Given the description of an element on the screen output the (x, y) to click on. 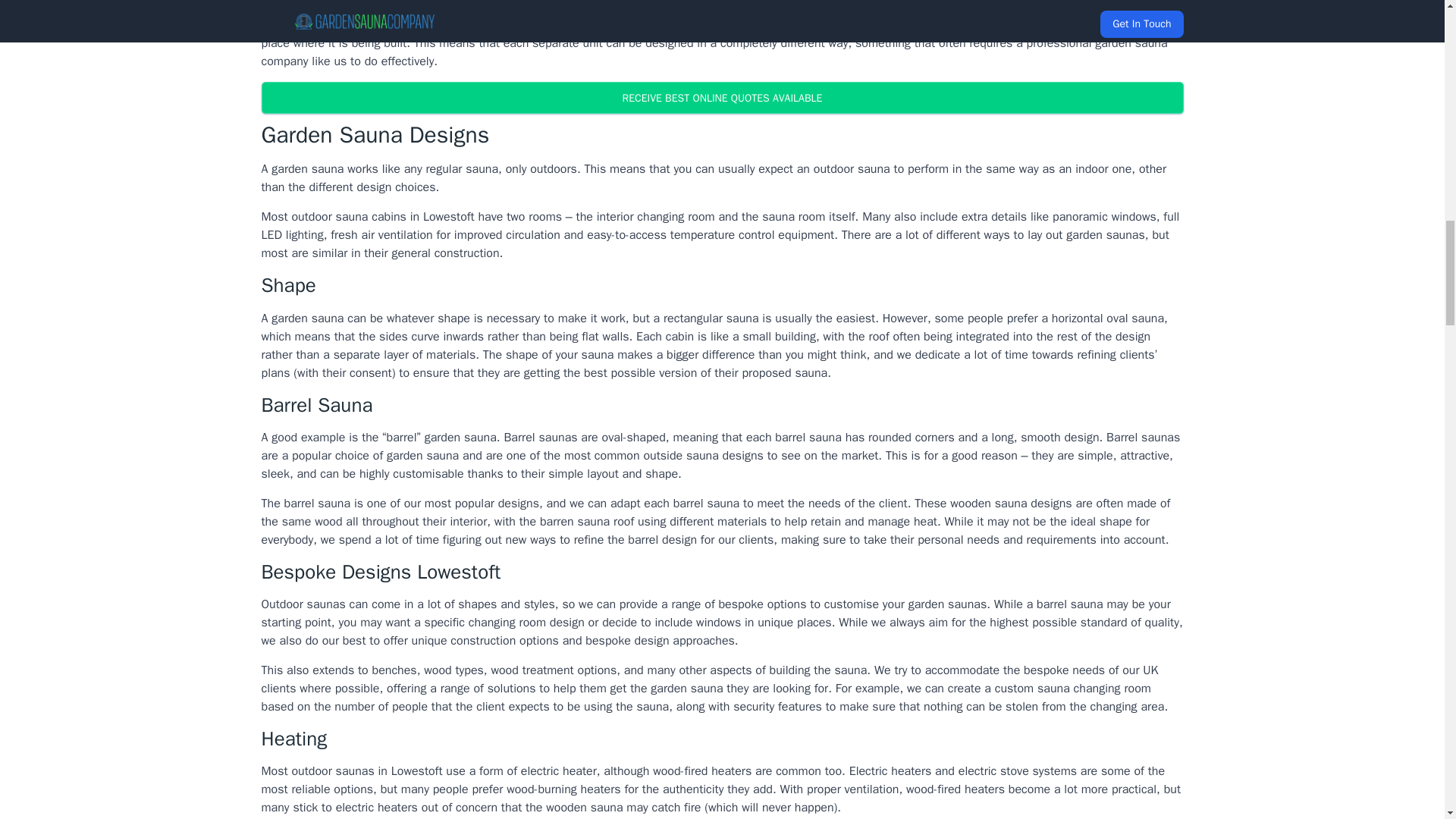
RECEIVE BEST ONLINE QUOTES AVAILABLE (721, 97)
